Given the description of an element on the screen output the (x, y) to click on. 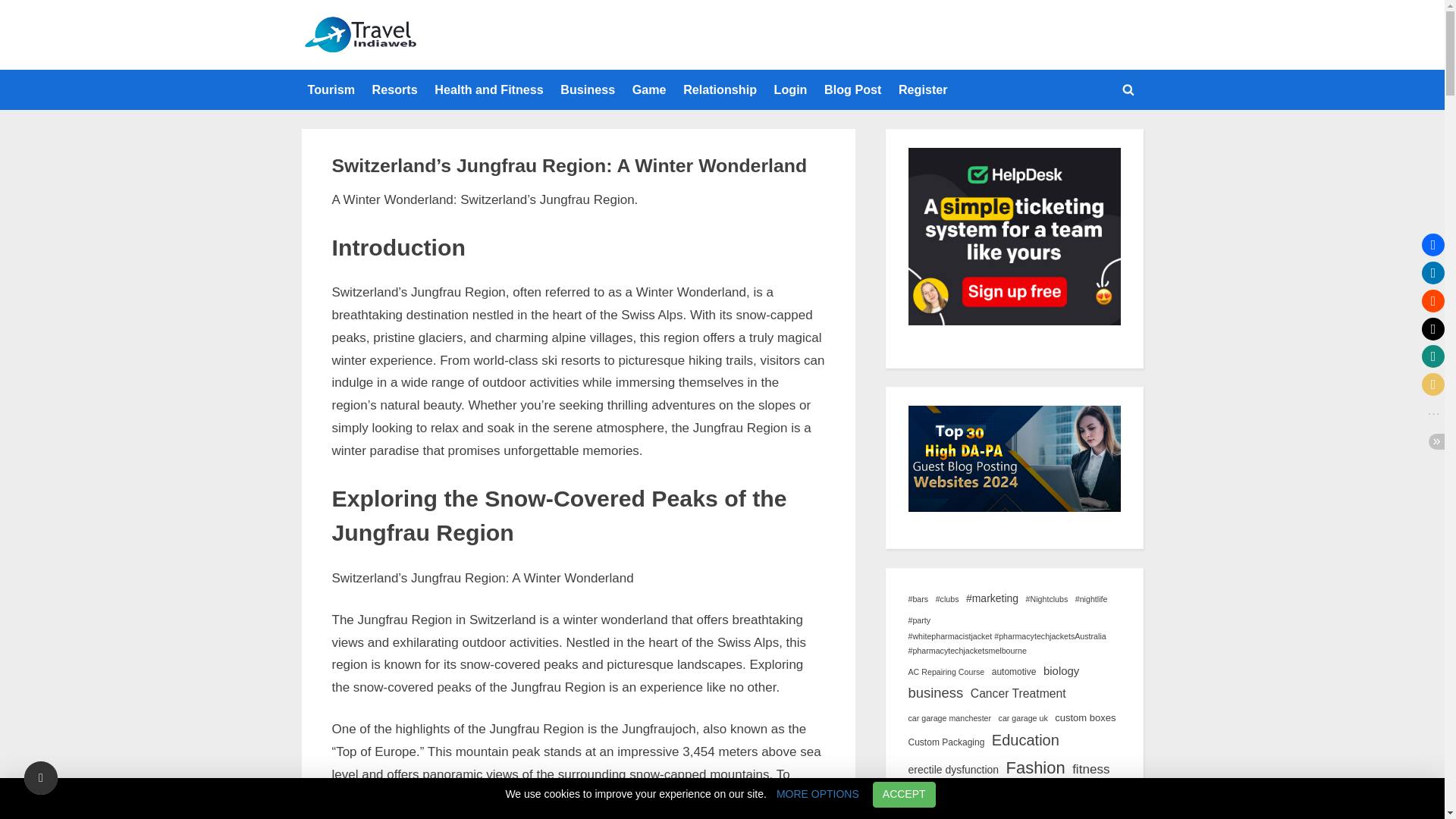
Resorts (394, 90)
business (935, 692)
biology (1060, 670)
car garage uk (1023, 718)
Health and Fitness (489, 90)
High DA, PA, DR Guest Blogs Posting Website (626, 45)
Toggle search form (1128, 88)
Business (587, 90)
Relationship (719, 90)
AC Repairing Course (946, 672)
custom boxes (1084, 718)
Education (1025, 740)
car garage manchester (949, 718)
Game (649, 90)
Blog Post (852, 90)
